Given the description of an element on the screen output the (x, y) to click on. 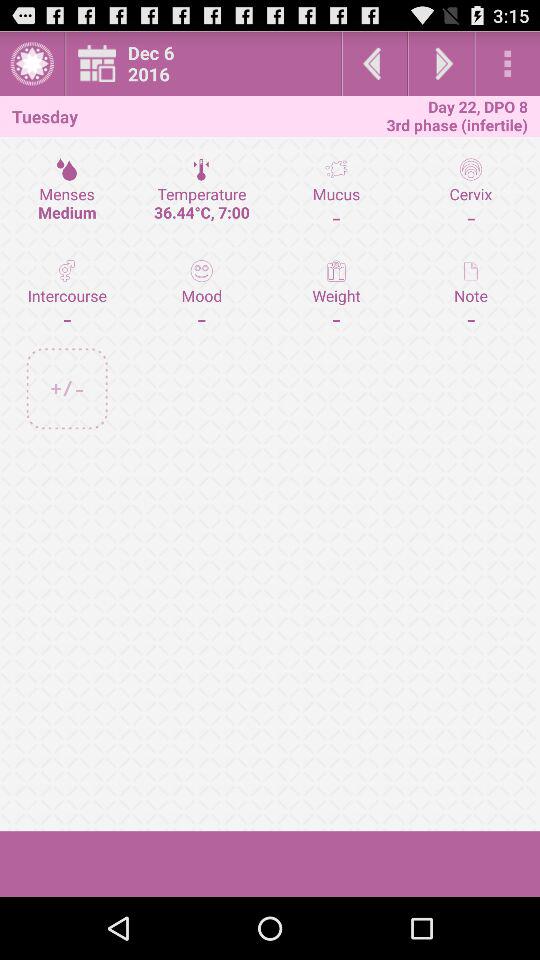
go to previous (374, 63)
